Given the description of an element on the screen output the (x, y) to click on. 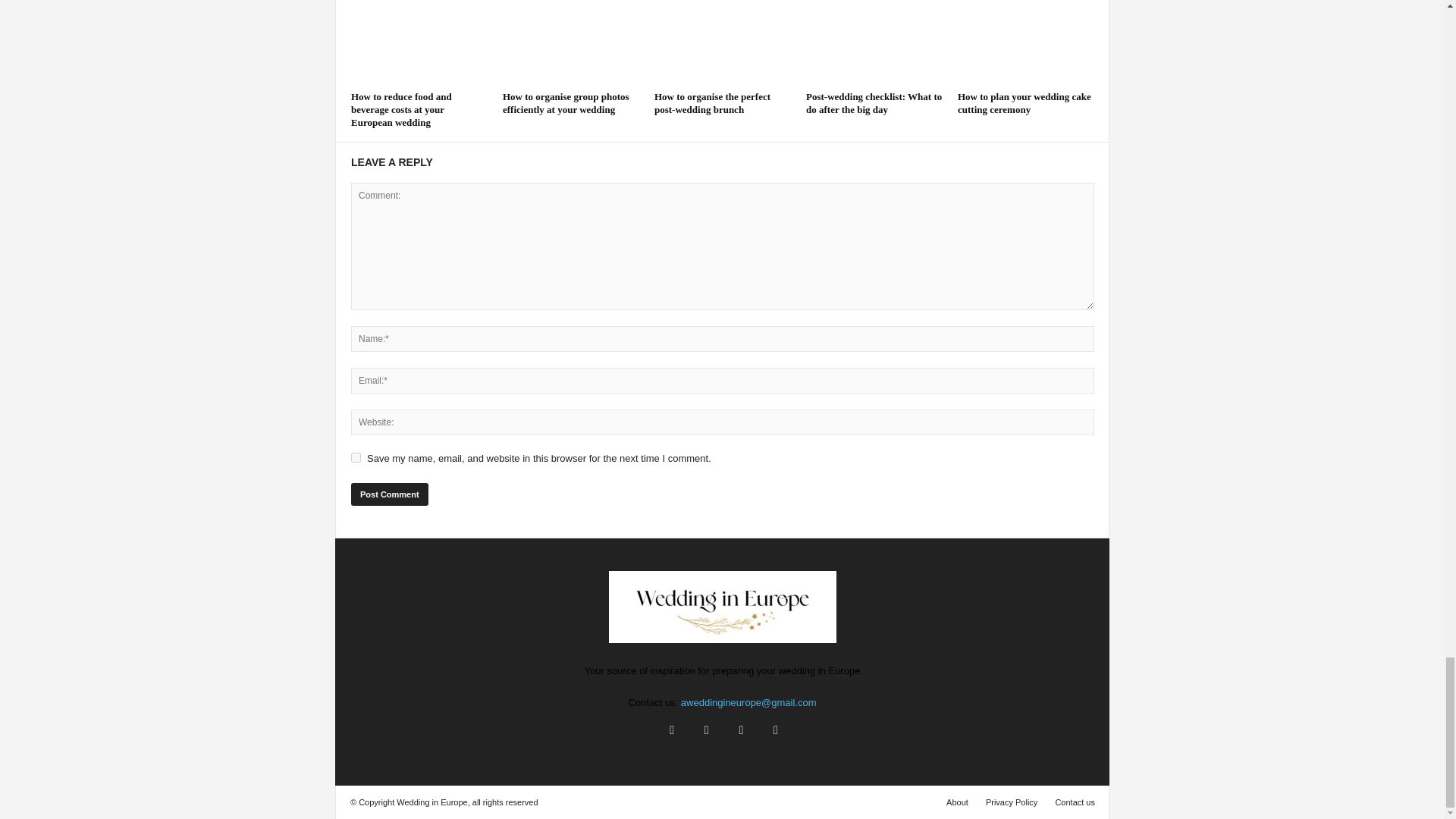
Post Comment (389, 494)
yes (355, 457)
